Given the description of an element on the screen output the (x, y) to click on. 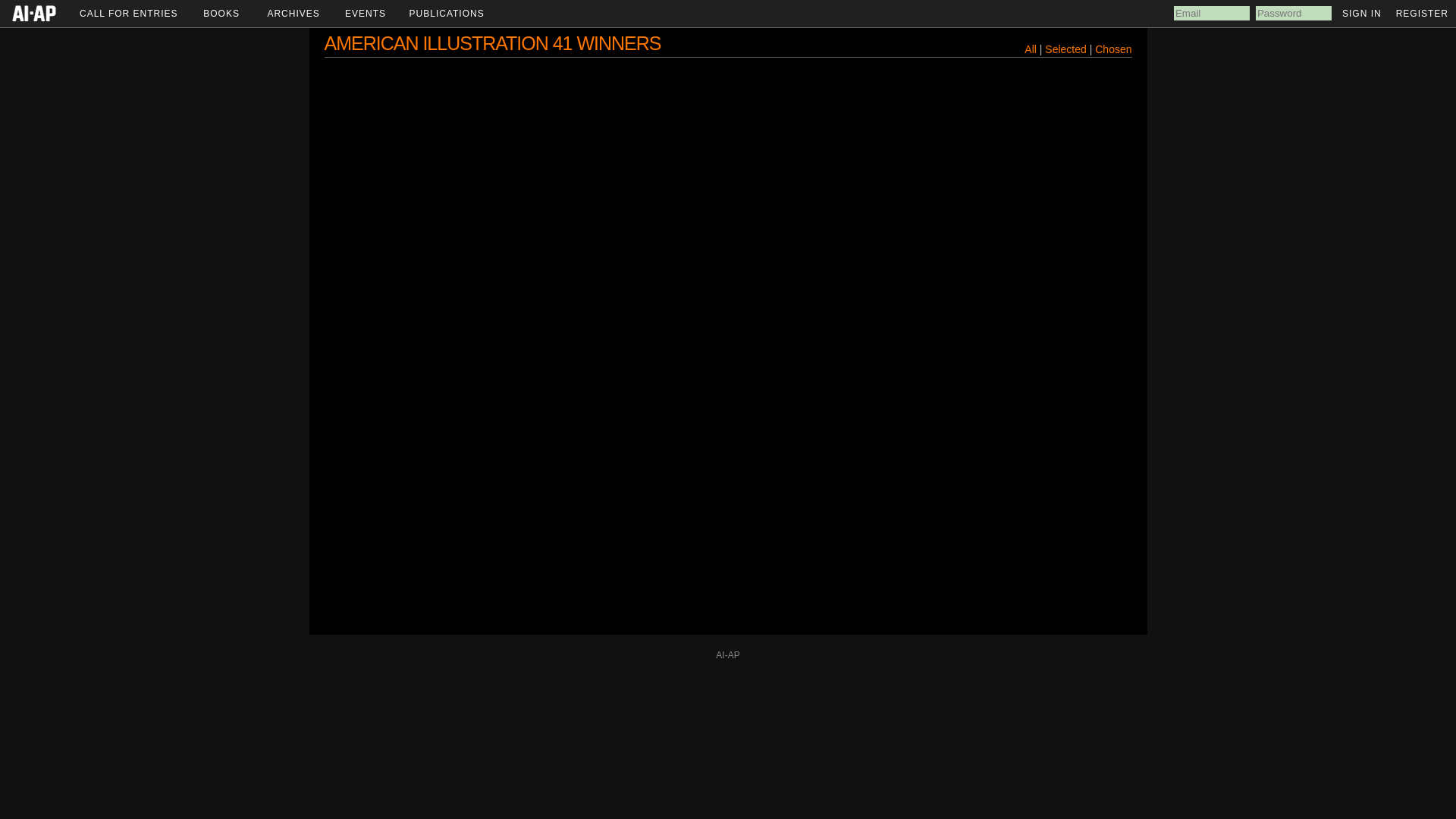
email (1211, 12)
Sign In (1362, 13)
Chosen (1112, 49)
password (1293, 12)
AMERICAN ILLUSTRATION 41 WINNERS (492, 43)
All (1030, 49)
Sign In (1362, 13)
Selected (1067, 49)
